Given the description of an element on the screen output the (x, y) to click on. 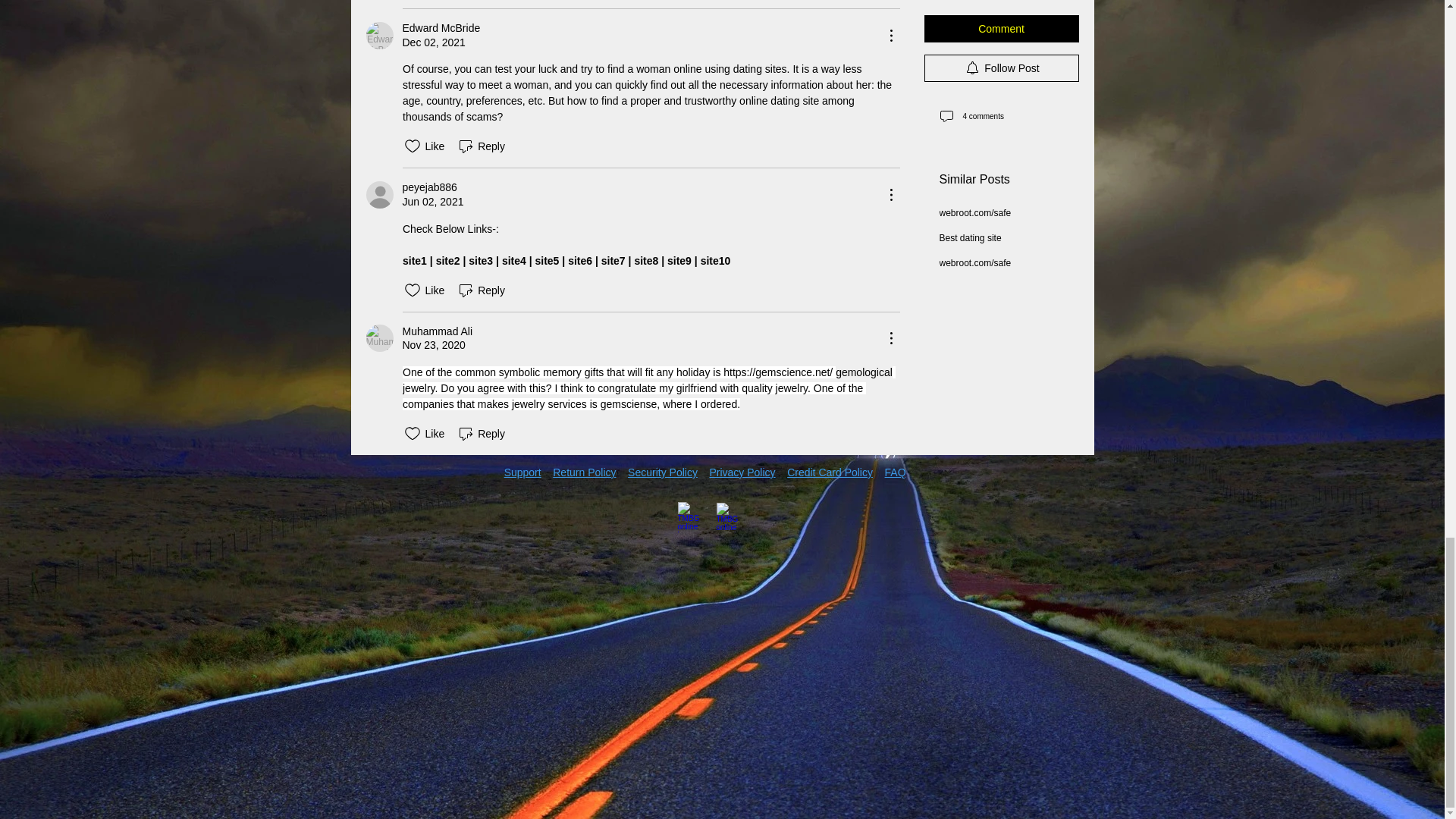
Reply (481, 146)
Edward McBride (379, 35)
TMBG Online Bass Guitar Lessons Facebook (692, 517)
TMBG Online Bass Guitar Lessons Twitter (730, 517)
Facebook Like (398, 494)
Muhammad Ali (379, 338)
Edward McBride (440, 28)
